Given the description of an element on the screen output the (x, y) to click on. 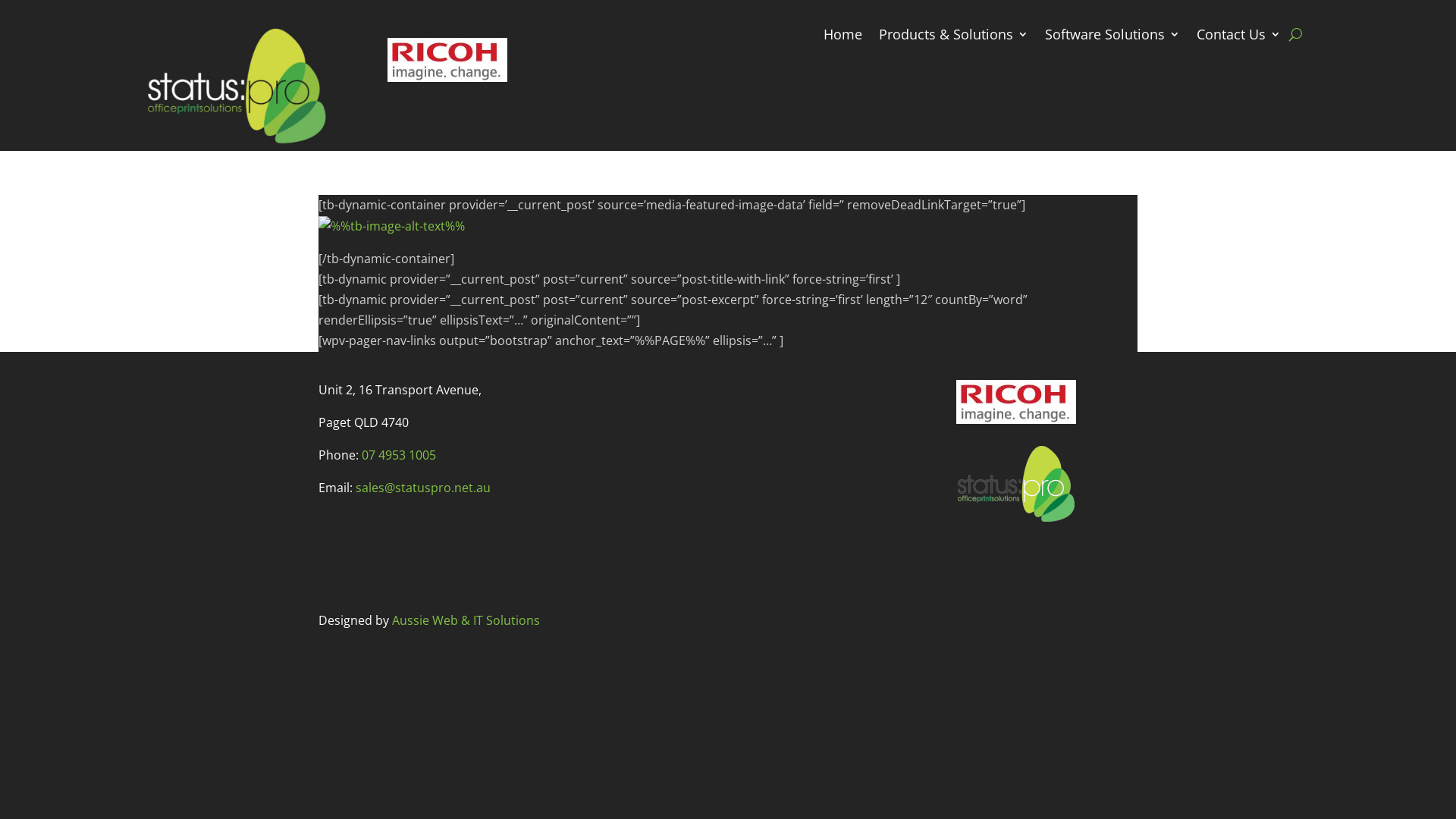
Home Element type: text (842, 36)
Products & Solutions Element type: text (953, 36)
statuspro Element type: hover (1015, 483)
Contact Us Element type: text (1238, 36)
StatusPro Element type: hover (236, 86)
sales@statuspro.net.au Element type: text (422, 487)
07 4953 1005 Element type: text (398, 454)
Software Solutions Element type: text (1111, 36)
Ricoh Element type: hover (1016, 401)
Aussie Web & IT Solutions Element type: text (465, 619)
Ricoh Element type: hover (447, 59)
